Given the description of an element on the screen output the (x, y) to click on. 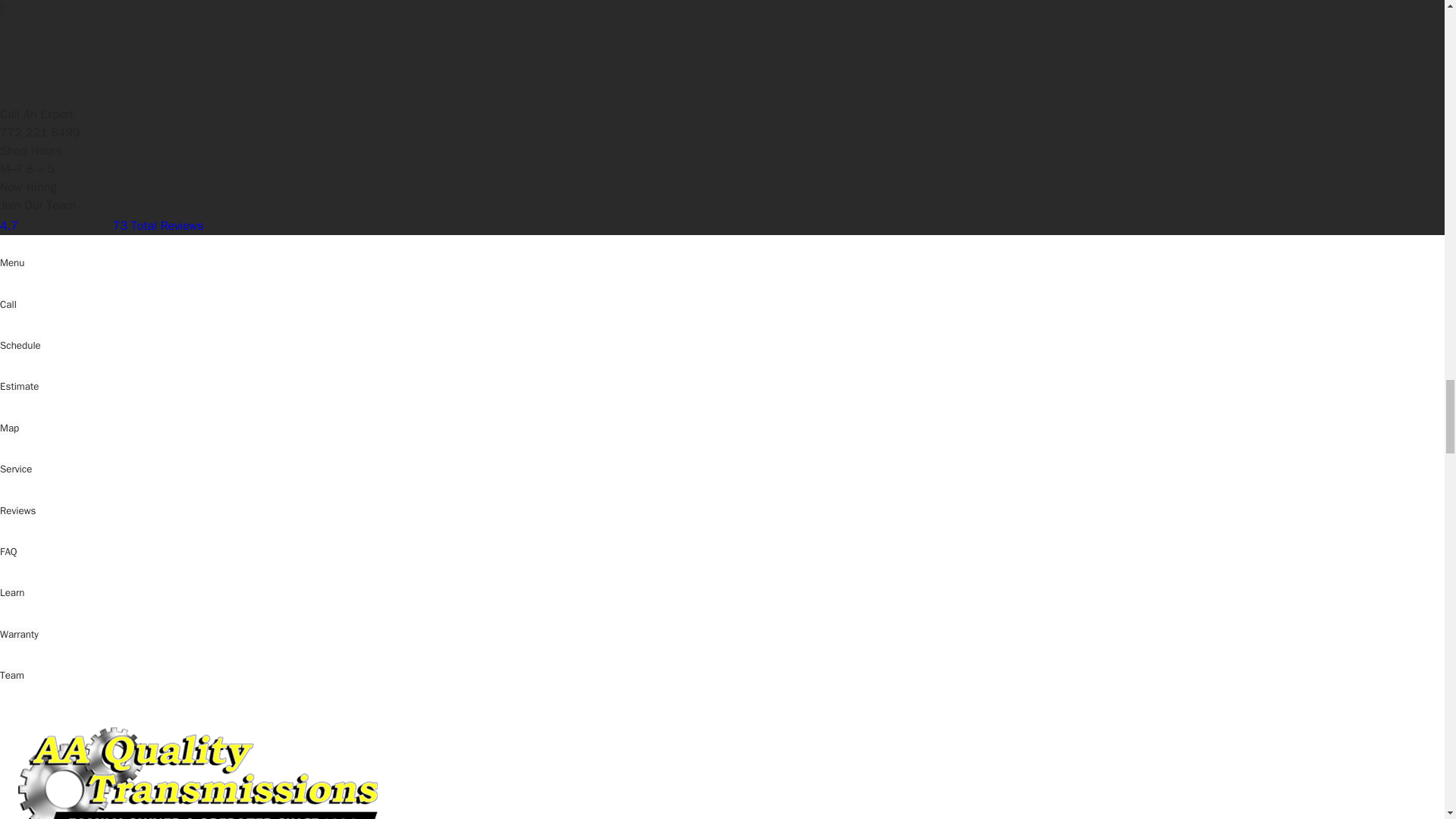
Read more about our great warranty plan (757, 709)
Get an Estimate Today (1190, 630)
Schedule Appointment Today (757, 630)
View Available Financing (1190, 709)
